Given the description of an element on the screen output the (x, y) to click on. 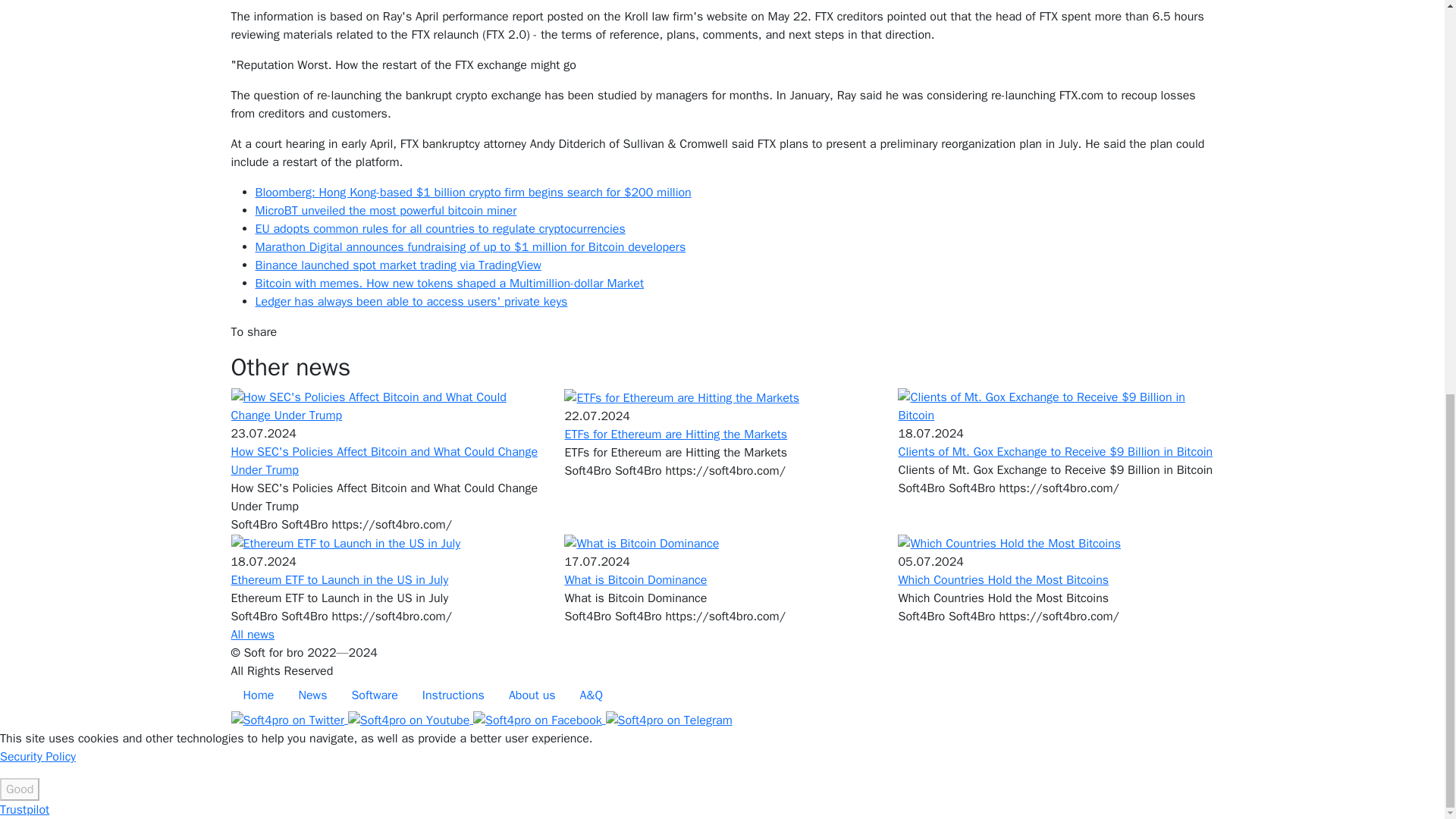
Ledger has always been able to access users' private keys (410, 301)
ETFs for Ethereum are Hitting the Markets (681, 396)
MicroBT unveiled the most powerful bitcoin miner (385, 210)
Ethereum ETF to Launch in the US in July (345, 542)
Binance launched spot market trading via TradingView (397, 264)
MicroBT unveiled the most powerful bitcoin miner (385, 210)
Binance launched spot market trading via TradingView (397, 264)
ETFs for Ethereum are Hitting the Markets (675, 434)
Ledger has always been able to access users' private keys (410, 301)
ETFs for Ethereum are Hitting the Markets (675, 434)
